Given the description of an element on the screen output the (x, y) to click on. 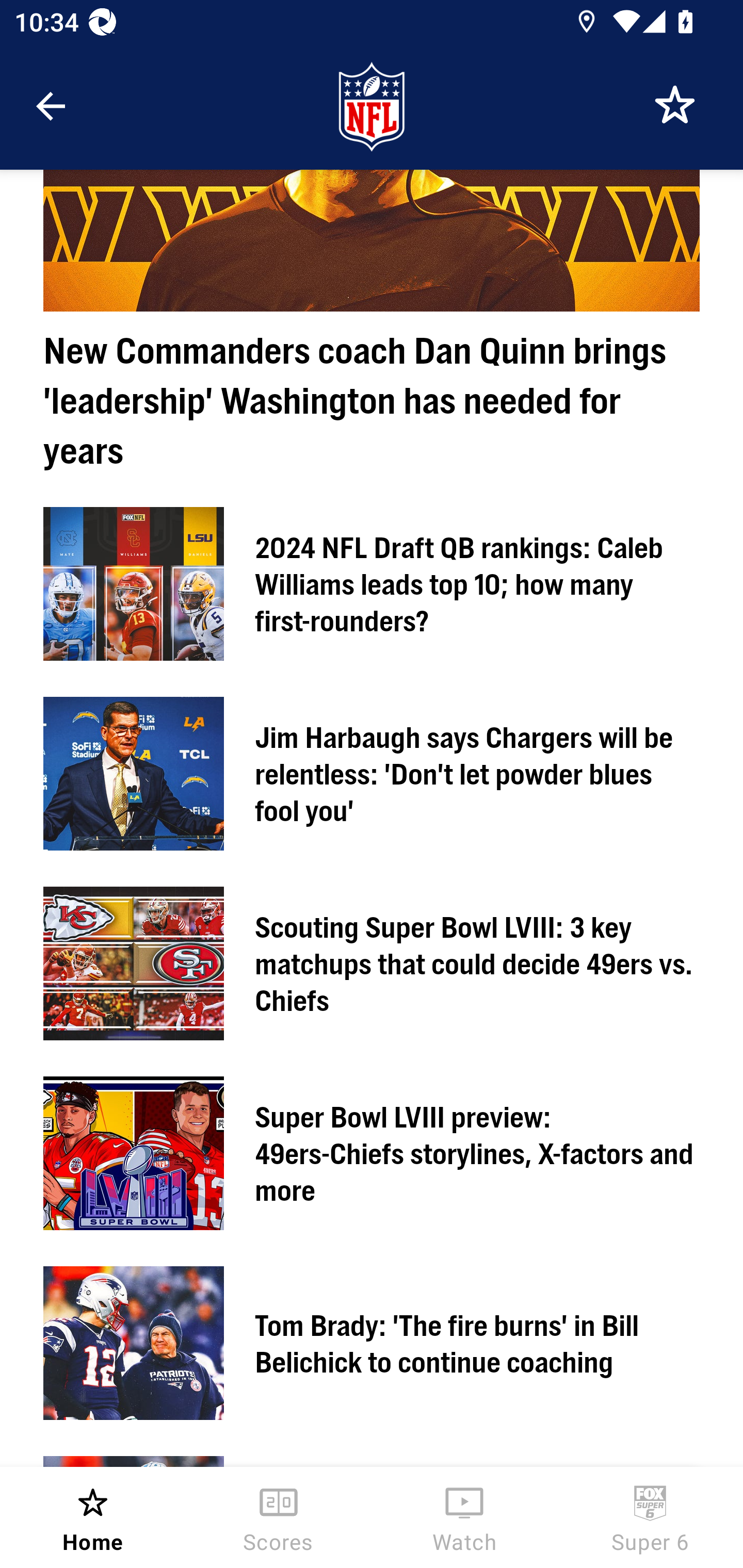
Navigate up (50, 106)
Scores (278, 1517)
Watch (464, 1517)
Super 6 (650, 1517)
